Given the description of an element on the screen output the (x, y) to click on. 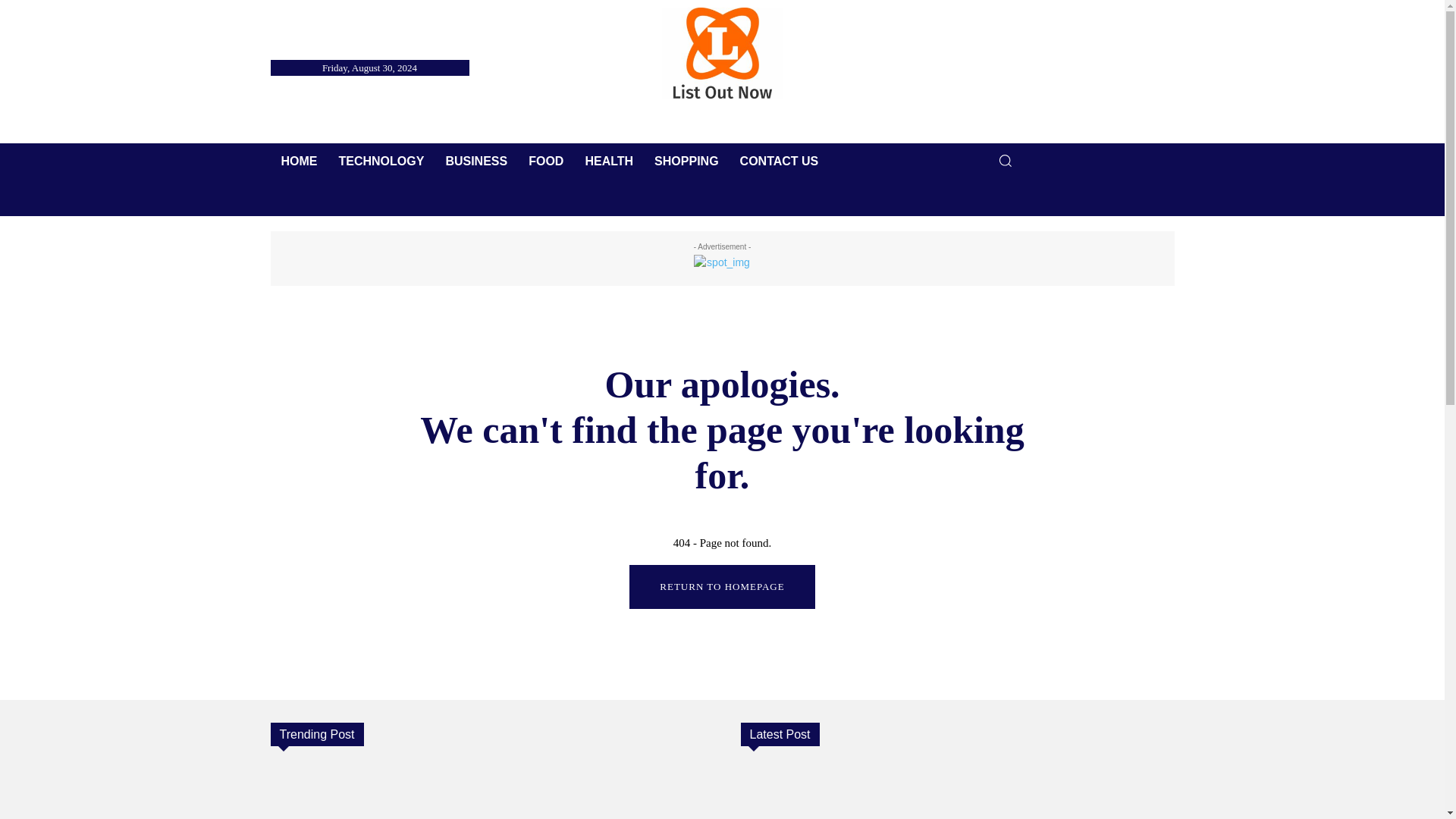
HEALTH (608, 161)
SHOPPING (686, 161)
BUSINESS (475, 161)
Return to Homepage (720, 587)
FOOD (545, 161)
HOME (298, 161)
TECHNOLOGY (380, 161)
RETURN TO HOMEPAGE (720, 587)
CONTACT US (779, 161)
